Given the description of an element on the screen output the (x, y) to click on. 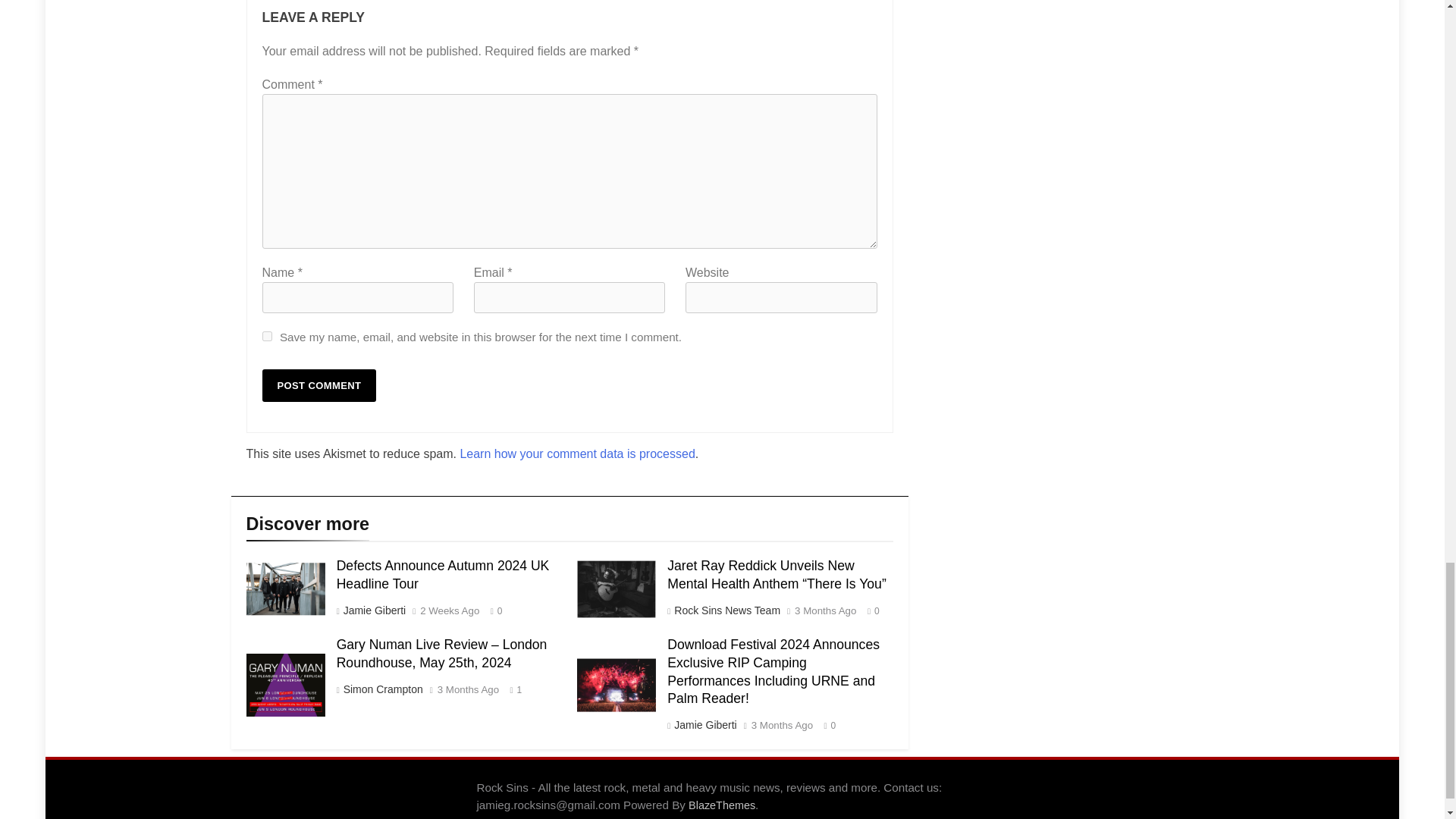
Post Comment (319, 385)
Learn how your comment data is processed (577, 453)
yes (267, 336)
Post Comment (319, 385)
